Given the description of an element on the screen output the (x, y) to click on. 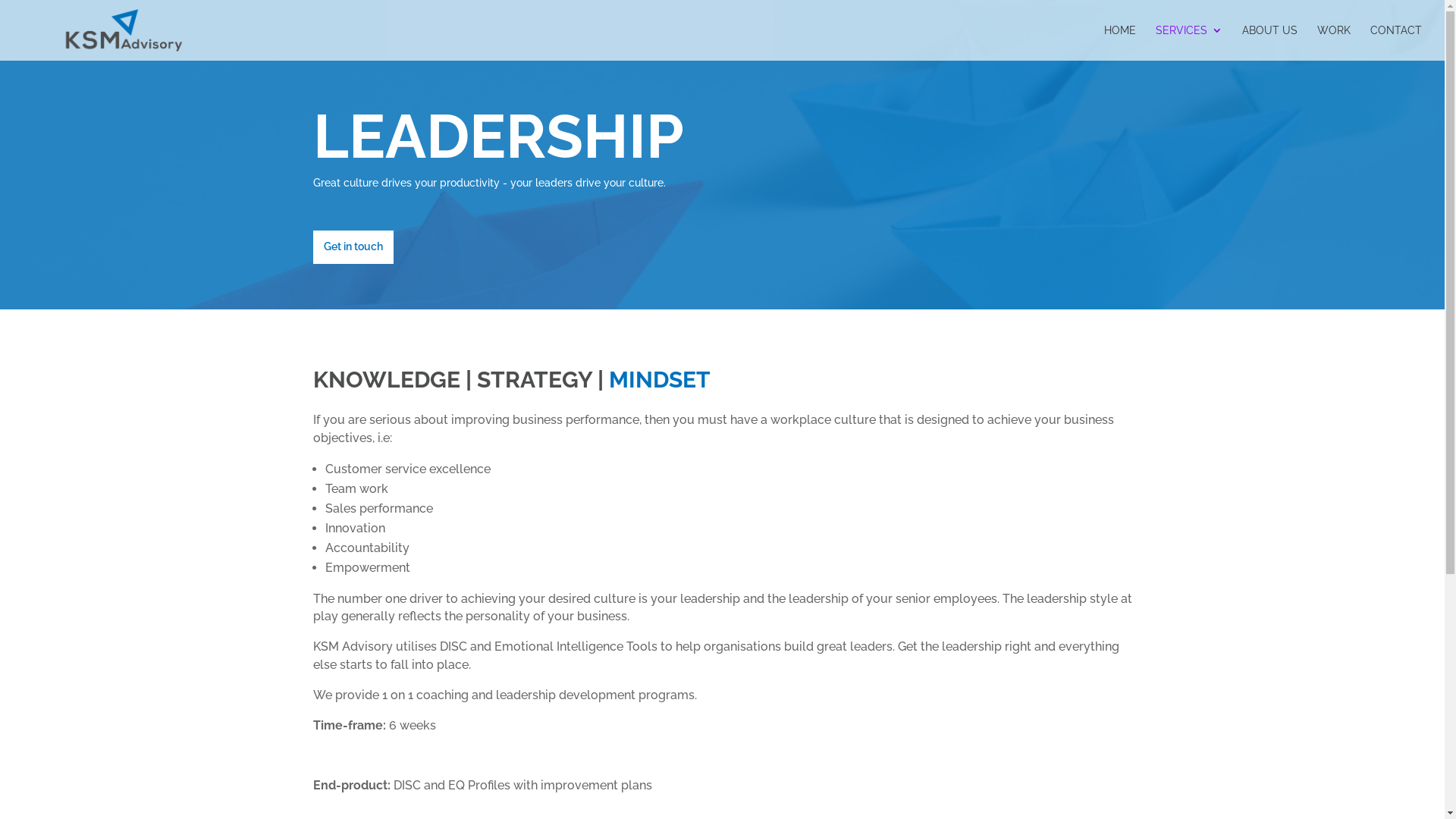
Get in touch Element type: text (352, 246)
SERVICES Element type: text (1188, 42)
CONTACT Element type: text (1395, 42)
WORK Element type: text (1333, 42)
HOME Element type: text (1119, 42)
ABOUT US Element type: text (1269, 42)
